Given the description of an element on the screen output the (x, y) to click on. 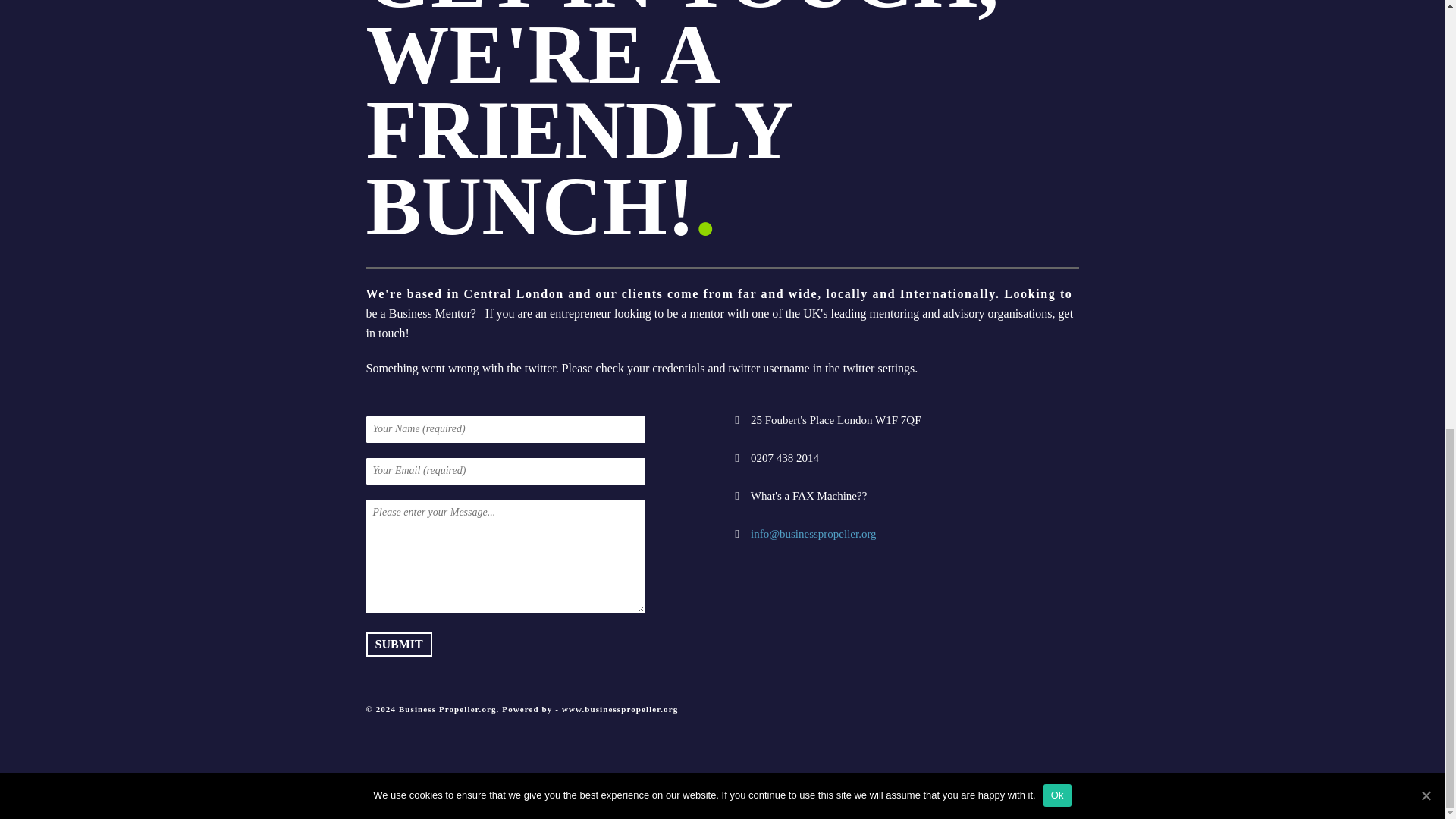
UltimatelySocial (834, 808)
Submit (397, 644)
Submit (397, 644)
